Given the description of an element on the screen output the (x, y) to click on. 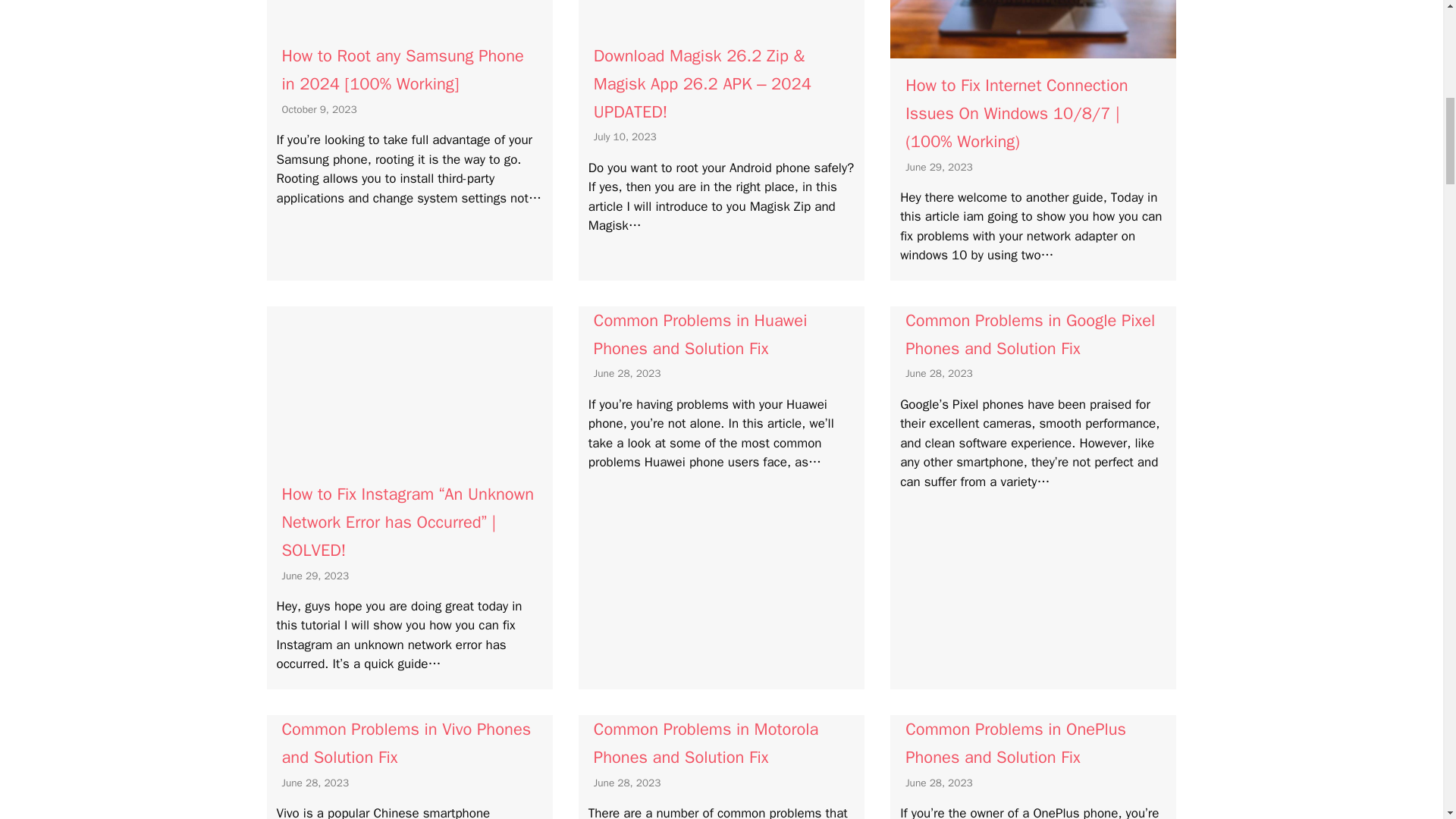
5:04 pm (319, 109)
June 29, 2023 (315, 575)
6:00 am (625, 136)
Common Problems in Vivo Phones and Solution Fix (406, 743)
June 29, 2023 (938, 166)
June 28, 2023 (627, 373)
July 10, 2023 (625, 136)
October 9, 2023 (319, 109)
Common Problems in Google Pixel Phones and Solution Fix (1029, 334)
June 28, 2023 (938, 373)
1:10 am (938, 166)
June 28, 2023 (315, 782)
Common Problems in Huawei Phones and Solution Fix (701, 334)
Common Problems in Motorola Phones and Solution Fix (706, 743)
June 28, 2023 (627, 782)
